Given the description of an element on the screen output the (x, y) to click on. 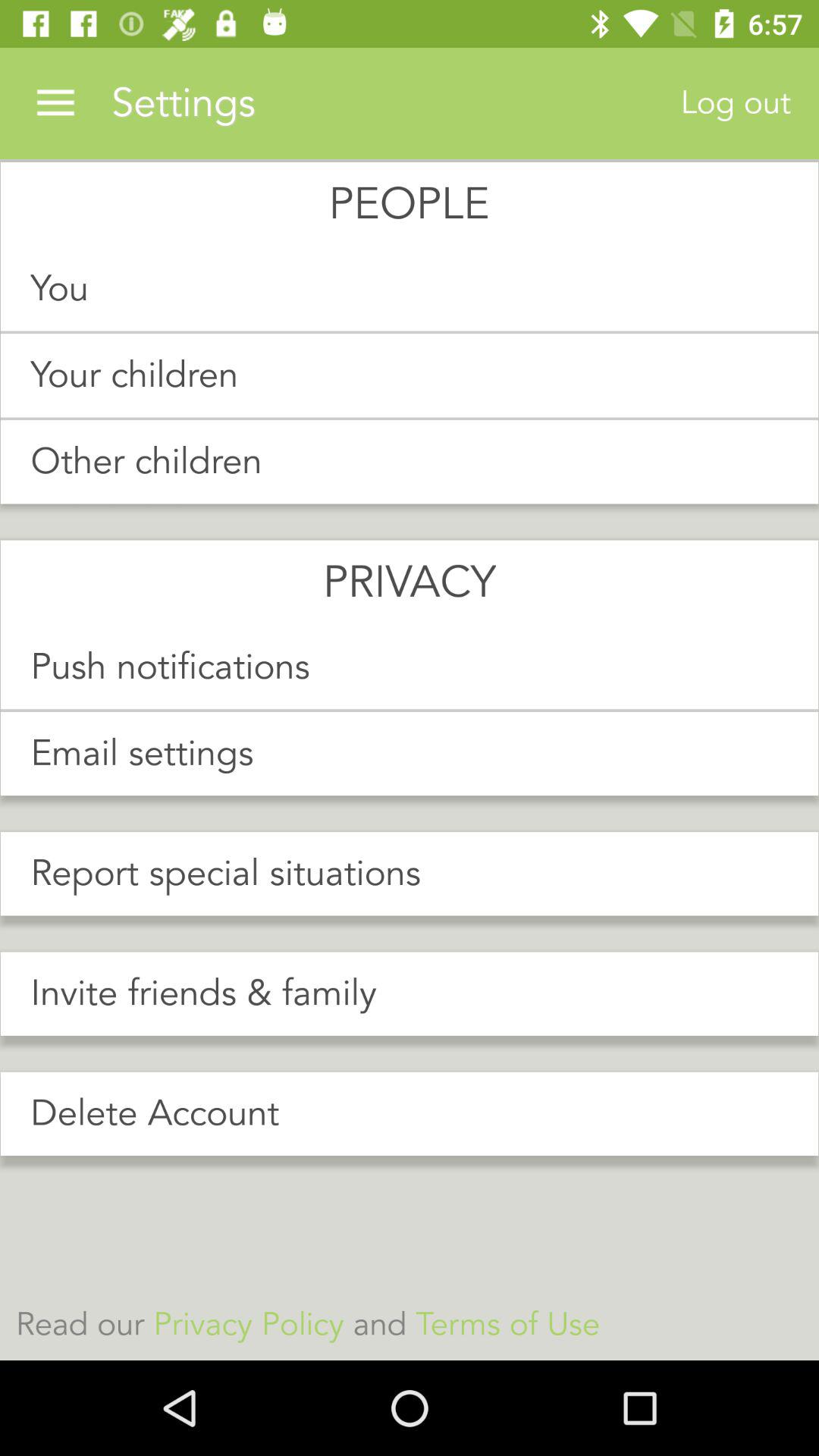
scroll until the log out icon (735, 102)
